Given the description of an element on the screen output the (x, y) to click on. 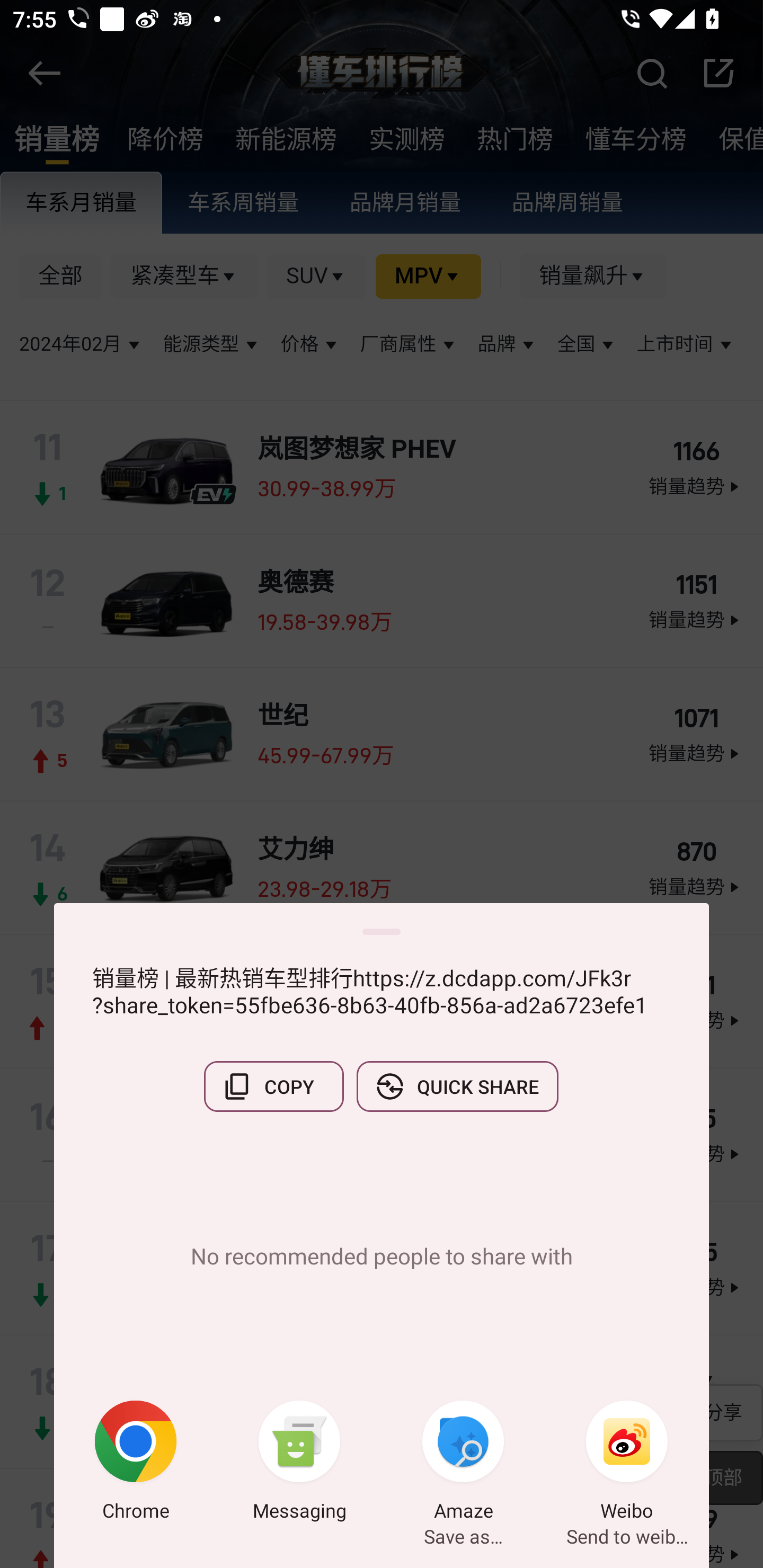
COPY (273, 1086)
QUICK SHARE (457, 1086)
Chrome (135, 1463)
Messaging (299, 1463)
Amaze Save as… (463, 1463)
Weibo Send to weibo friends (626, 1463)
